Given the description of an element on the screen output the (x, y) to click on. 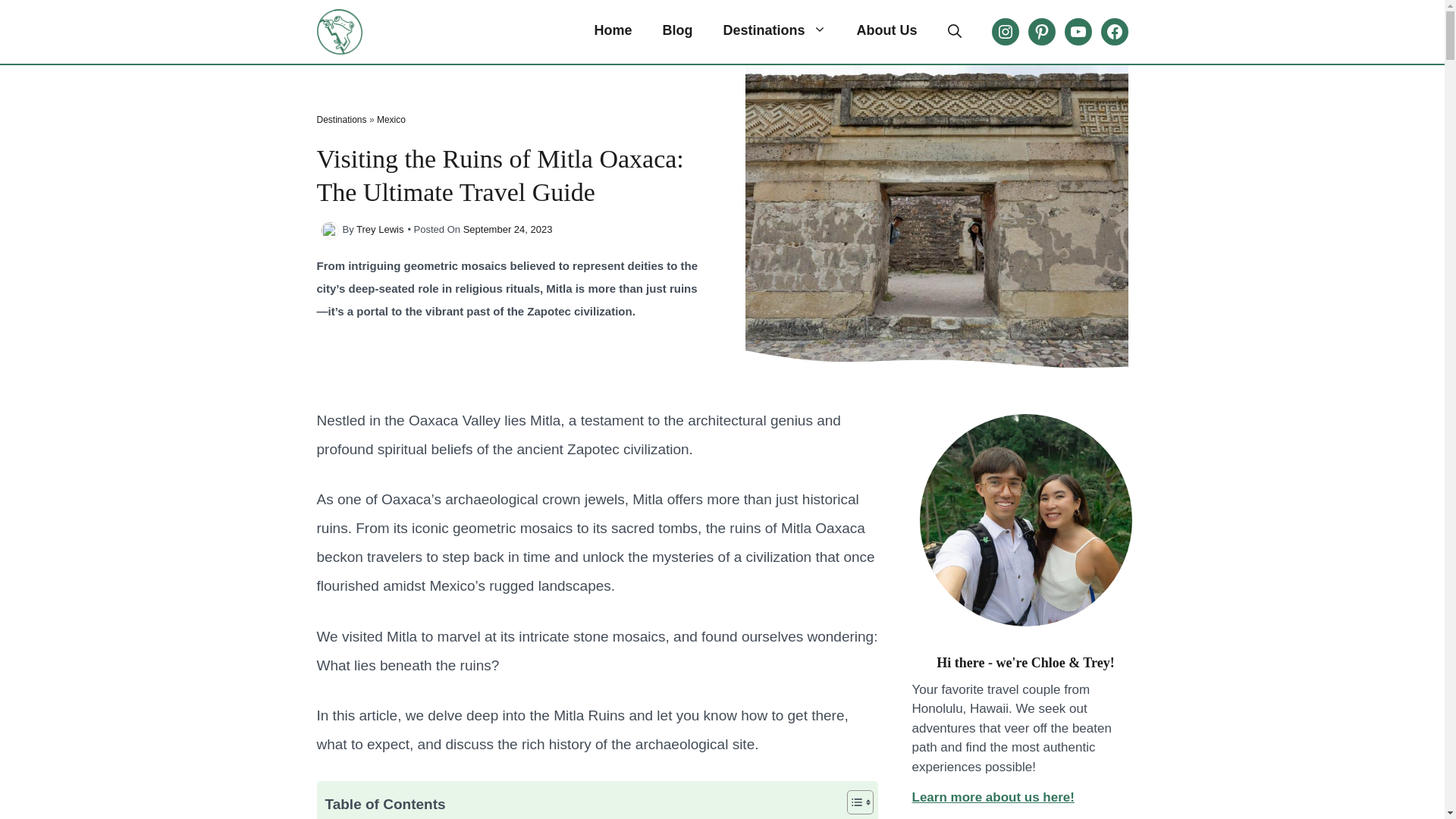
Instagram (1005, 31)
YouTube (1078, 31)
Trey Lewis (379, 229)
Pinterest (1041, 31)
Home (612, 30)
The Froggy Adventures Facebook Page (1114, 31)
Destinations (774, 30)
Blog (676, 30)
September 24, 2023 (508, 229)
Mexico (391, 119)
About Us (887, 30)
Destinations (341, 119)
